Given the description of an element on the screen output the (x, y) to click on. 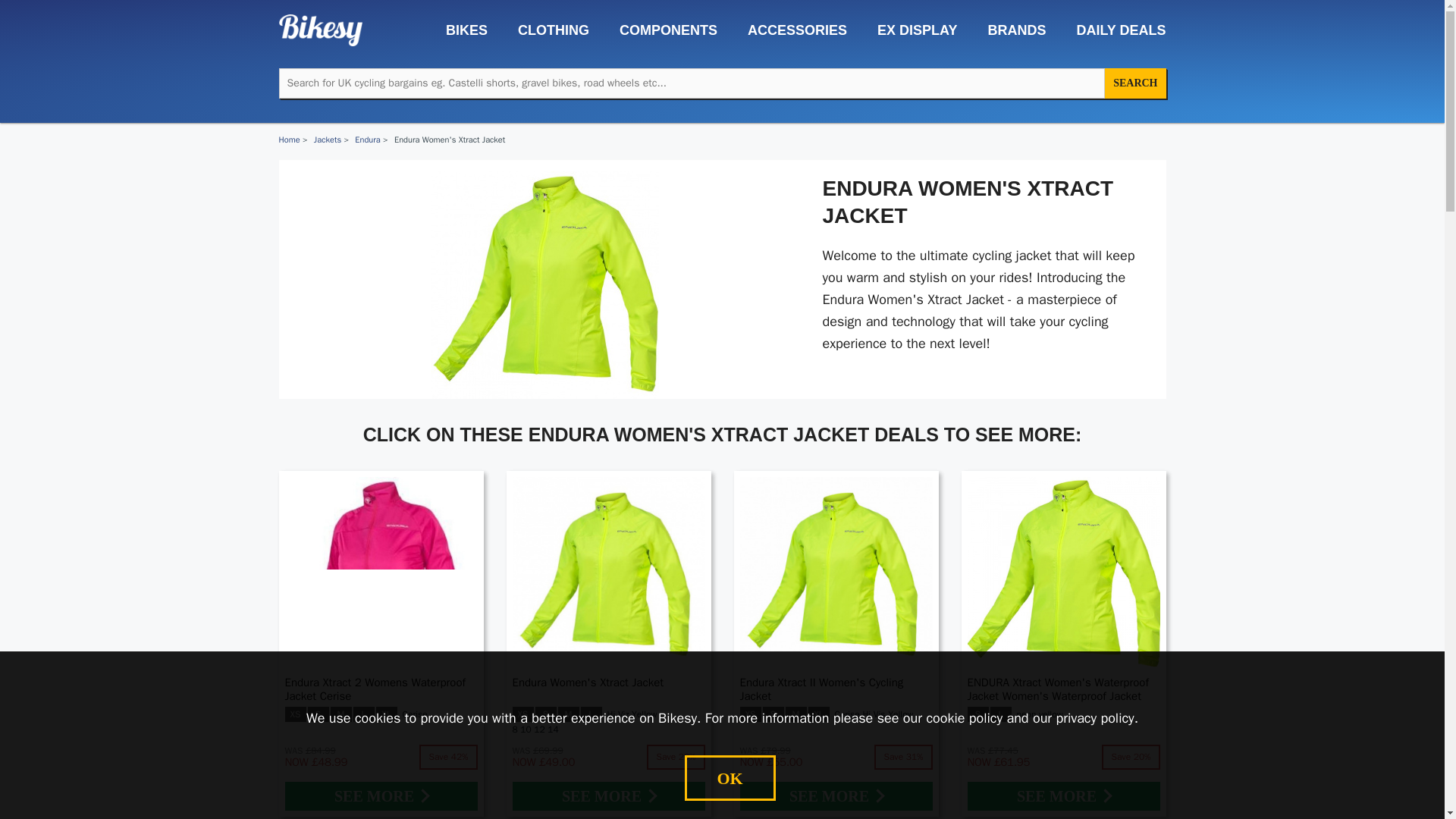
Bikesy cookie policy (964, 718)
DAILY DEALS (1113, 30)
ACCESSORIES (789, 30)
Search (1135, 82)
EX DISPLAY (908, 30)
Bikesy privacy policy (1094, 718)
Bikesy (320, 29)
BIKES (458, 30)
Home (289, 139)
Endura (367, 139)
